Given the description of an element on the screen output the (x, y) to click on. 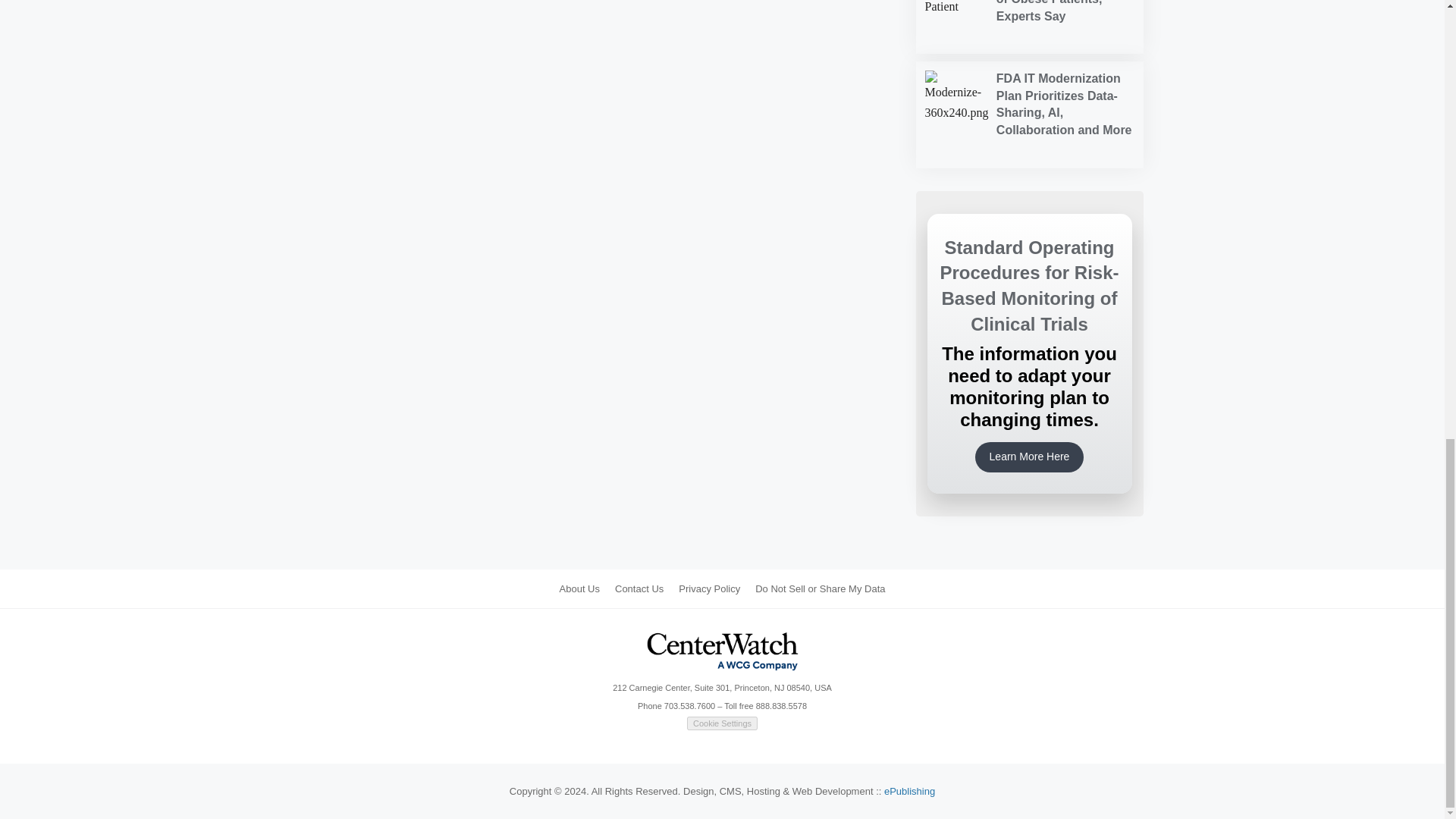
Obesity Treatment Patient (957, 22)
